Given the description of an element on the screen output the (x, y) to click on. 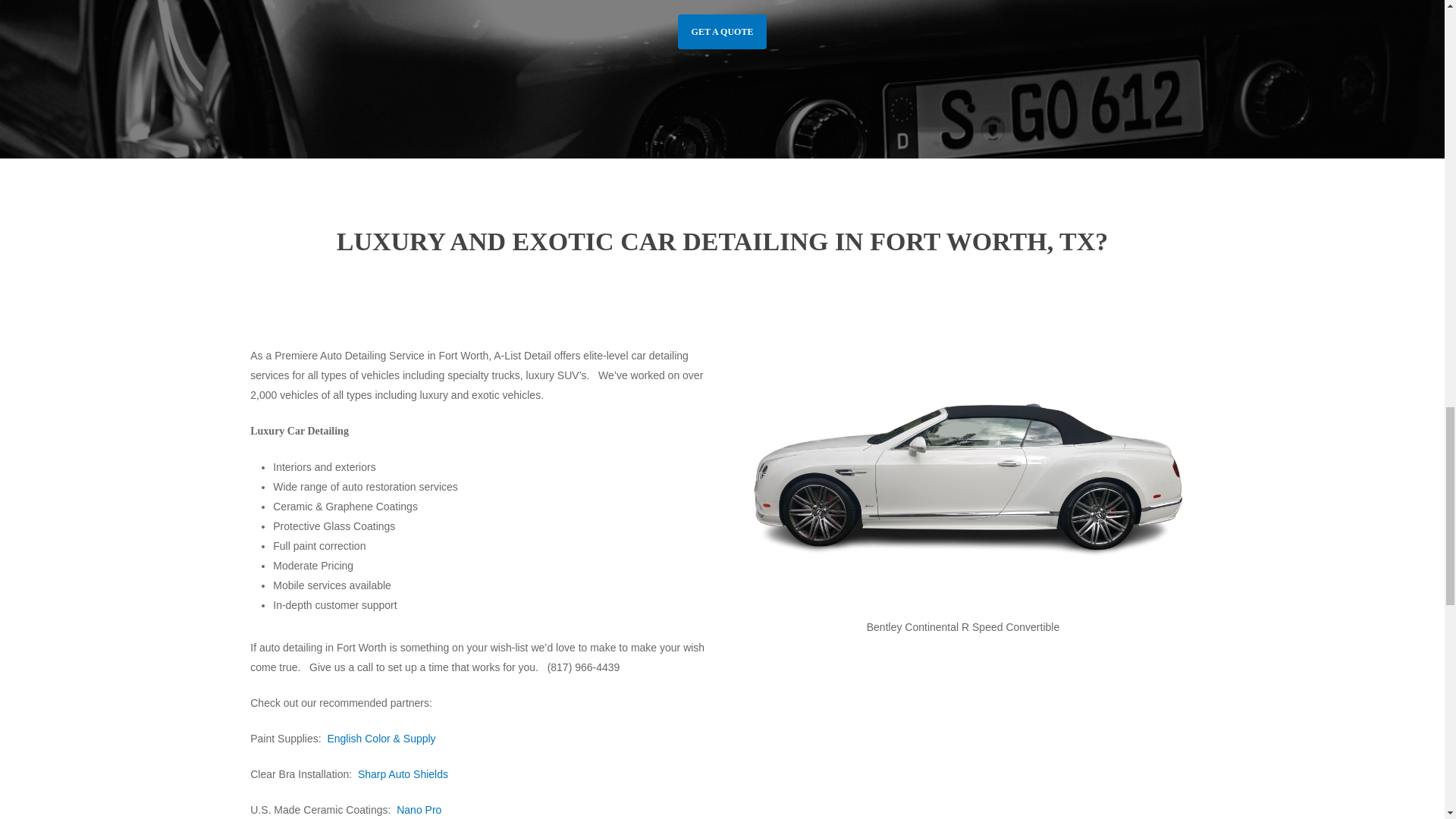
Sharp Auto Shields (403, 774)
Nano Pro (418, 809)
GET A QUOTE (722, 31)
